Given the description of an element on the screen output the (x, y) to click on. 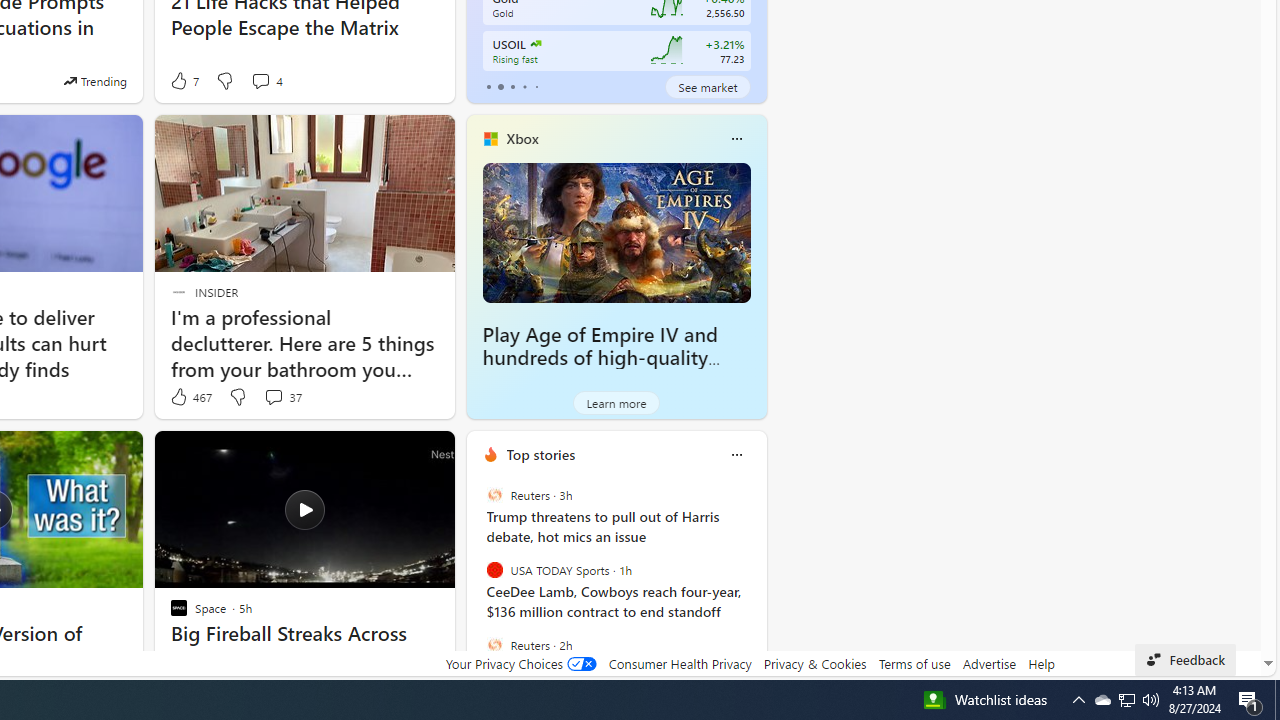
Xbox (521, 139)
See market (708, 86)
View comments 37 Comment (281, 397)
7 Like (183, 80)
View comments 4 Comment (265, 80)
